Given the description of an element on the screen output the (x, y) to click on. 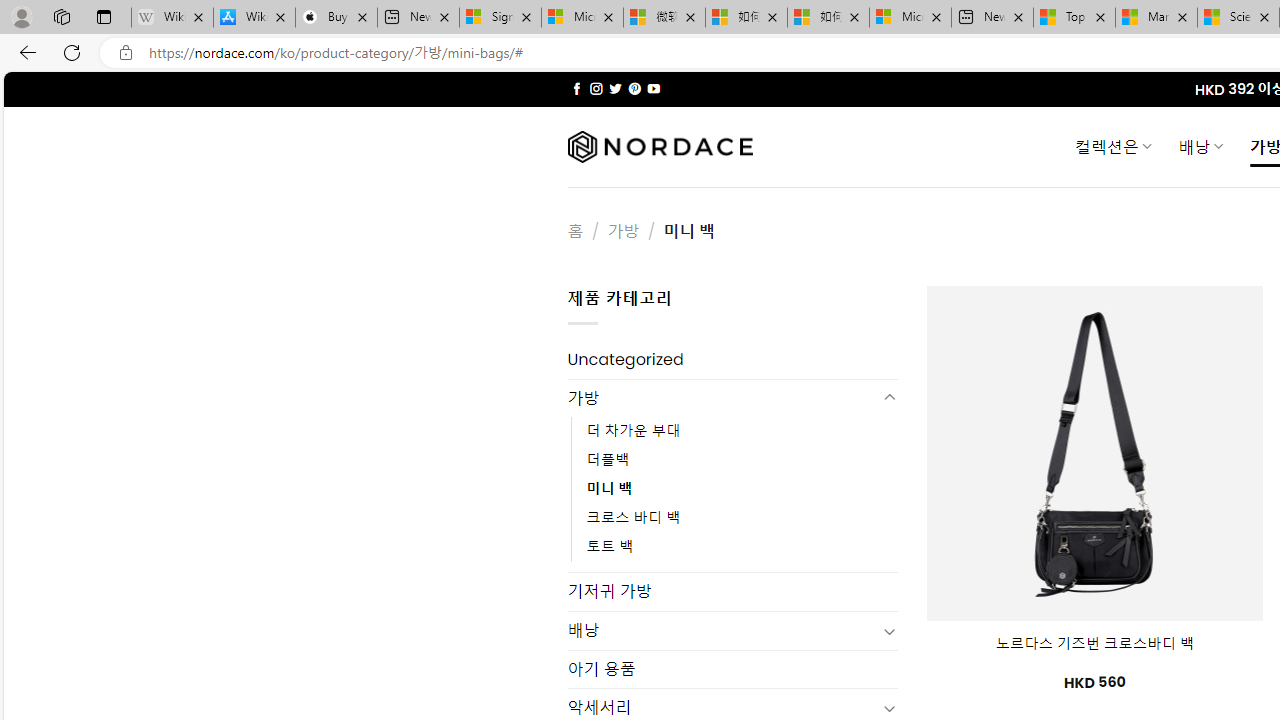
Uncategorized (732, 359)
Follow on Twitter (615, 88)
Follow on Facebook (576, 88)
